Given the description of an element on the screen output the (x, y) to click on. 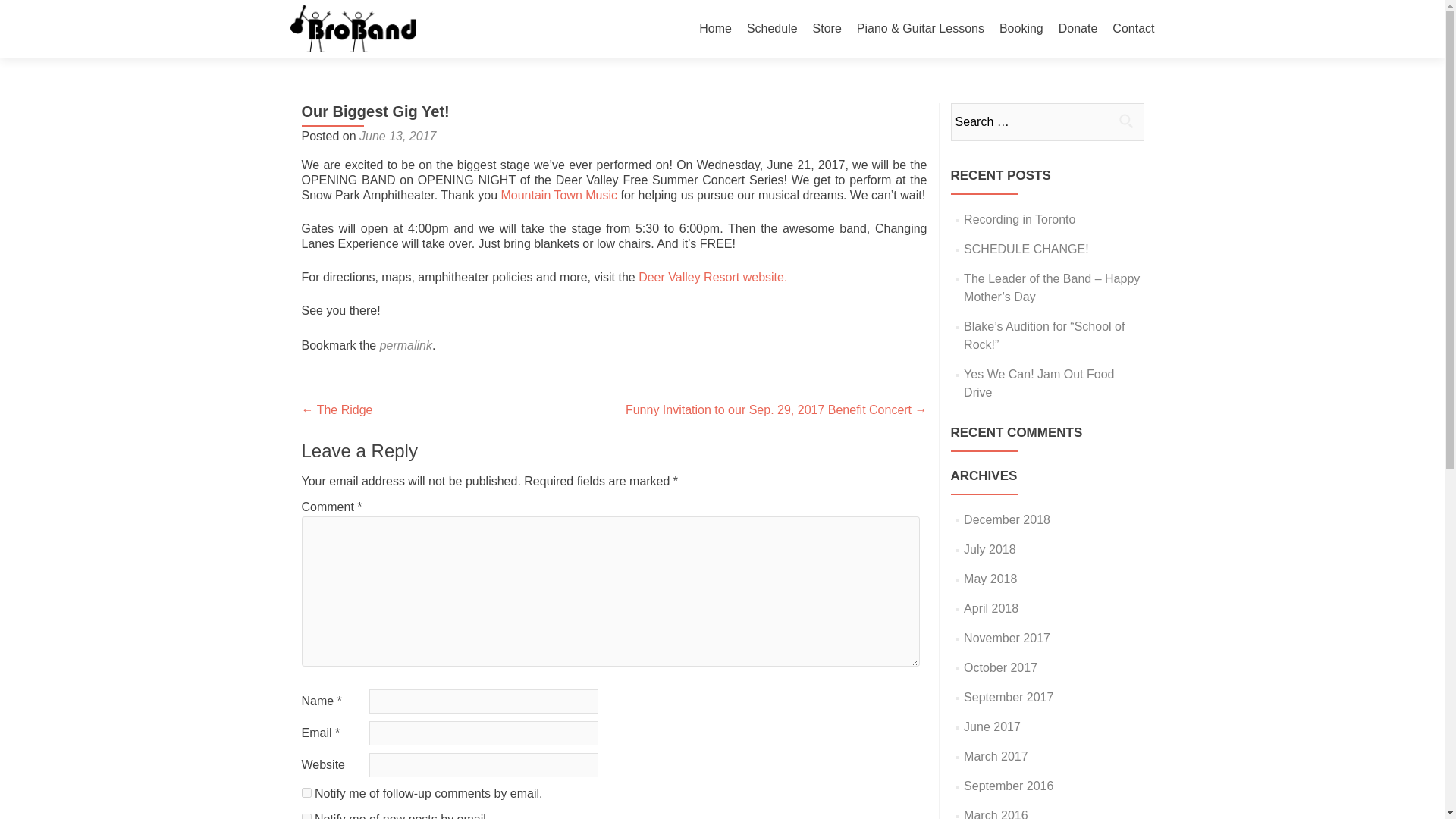
Booking (1020, 28)
Contact (1133, 28)
Search (1125, 120)
Recording in Toronto (1019, 219)
July 2018 (989, 549)
Mountain Town Music (558, 195)
March 2016 (995, 814)
June 2017 (991, 726)
subscribe (306, 816)
October 2017 (999, 667)
